Given the description of an element on the screen output the (x, y) to click on. 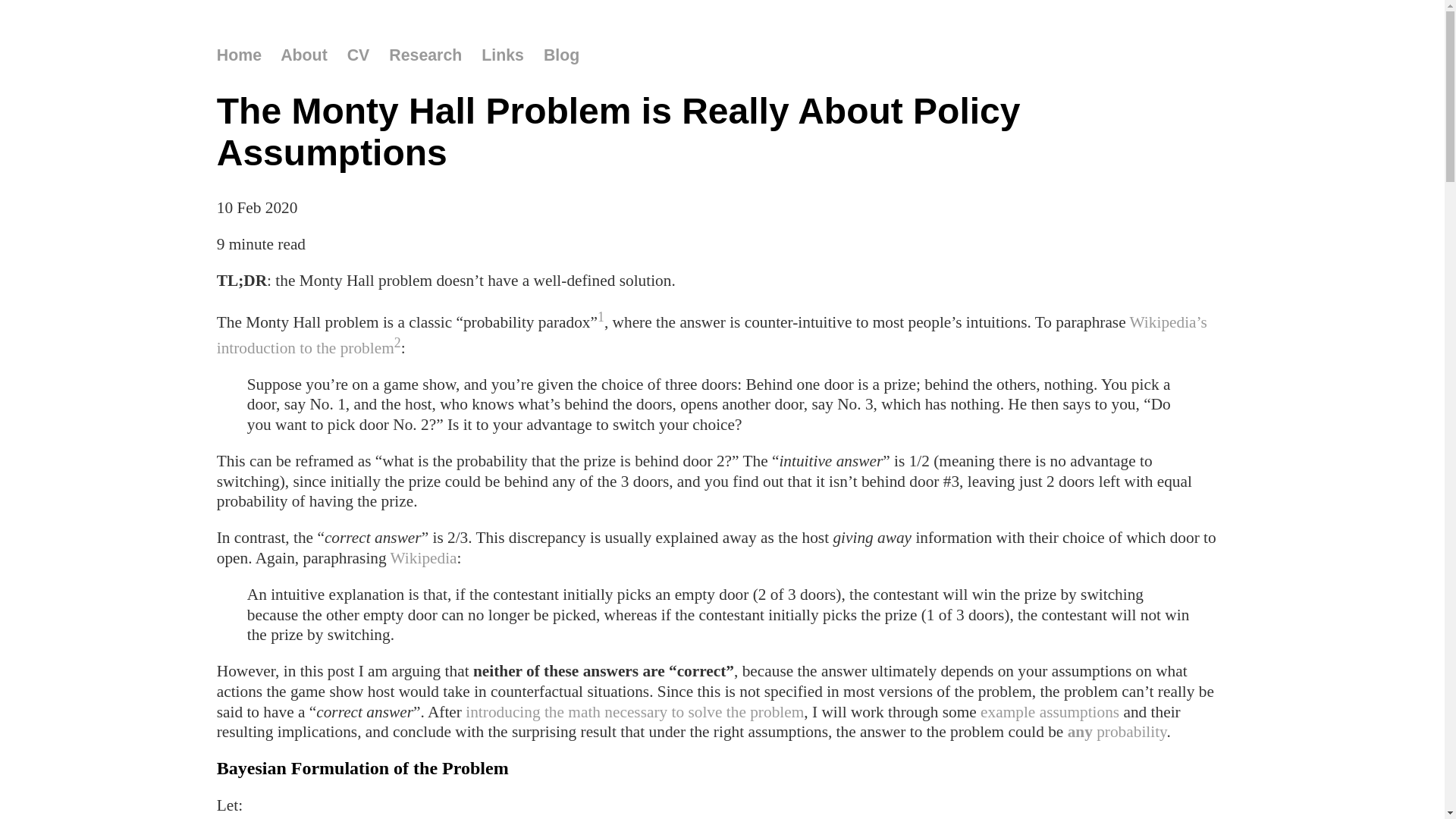
CV Element type: text (358, 55)
2 Element type: text (397, 342)
Links Element type: text (502, 55)
Blog Element type: text (561, 55)
Home Element type: text (238, 55)
1 Element type: text (600, 316)
example assumptions Element type: text (1049, 711)
introducing the math necessary to solve the problem Element type: text (634, 711)
any probability Element type: text (1117, 731)
Wikipedia Element type: text (423, 558)
Research Element type: text (425, 55)
About Element type: text (303, 55)
